Given the description of an element on the screen output the (x, y) to click on. 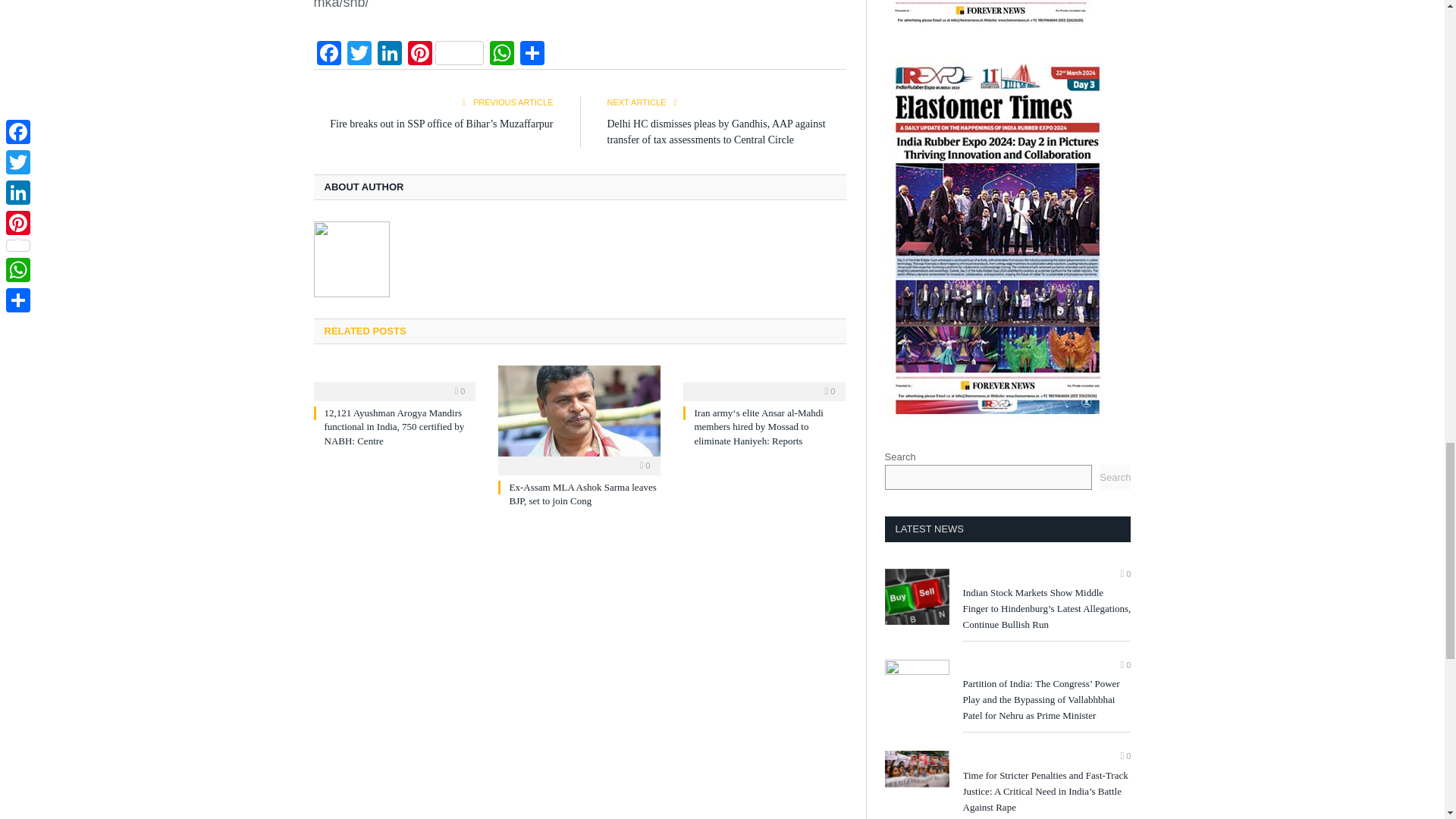
Pinterest (445, 54)
WhatsApp (501, 54)
Facebook (328, 54)
Pinterest (445, 54)
LinkedIn (389, 54)
Twitter (358, 54)
Twitter (358, 54)
Facebook (328, 54)
LinkedIn (389, 54)
